Given the description of an element on the screen output the (x, y) to click on. 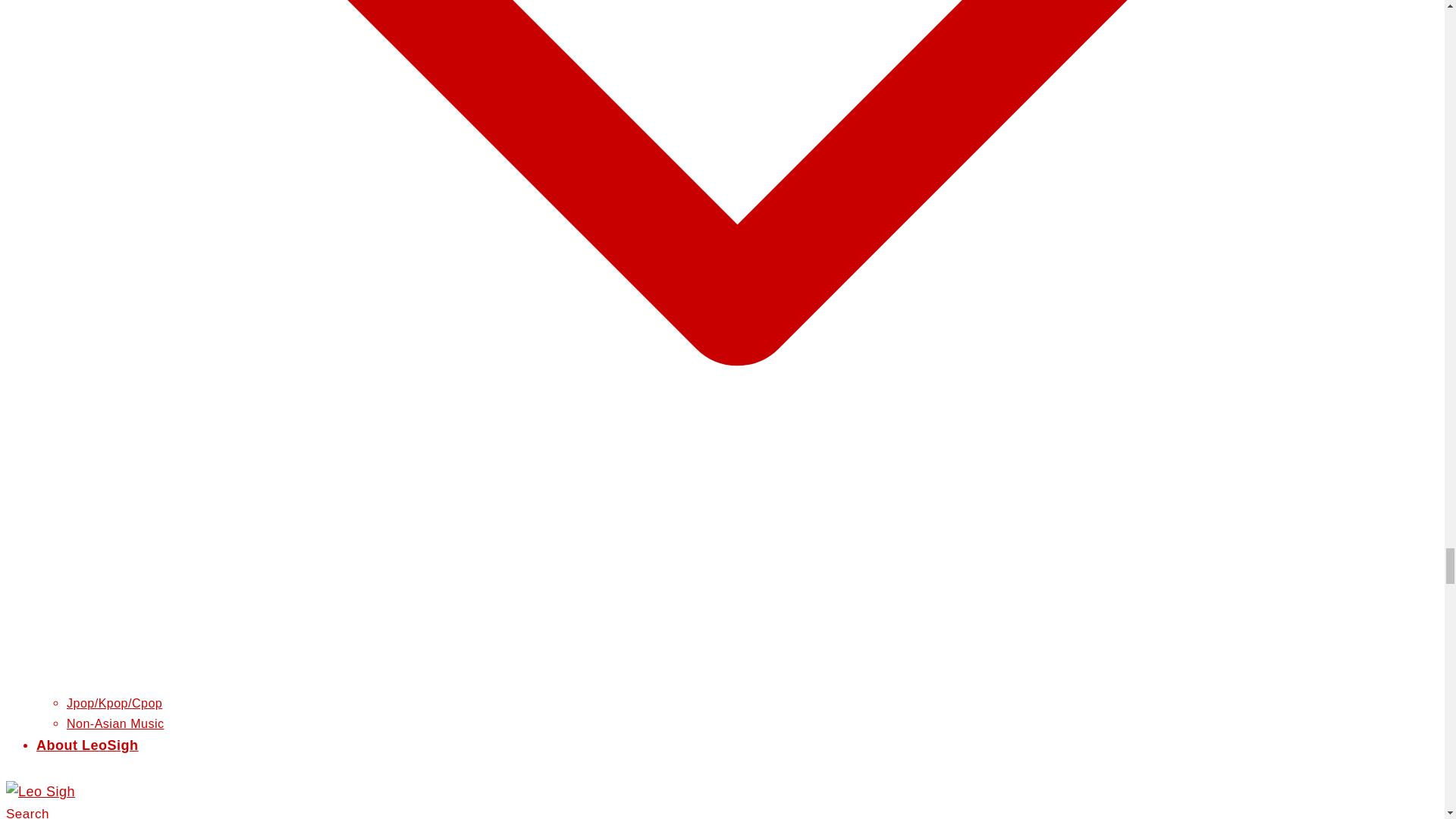
Non-Asian Music (114, 723)
About LeoSigh (87, 745)
Leo Sigh (40, 791)
